Given the description of an element on the screen output the (x, y) to click on. 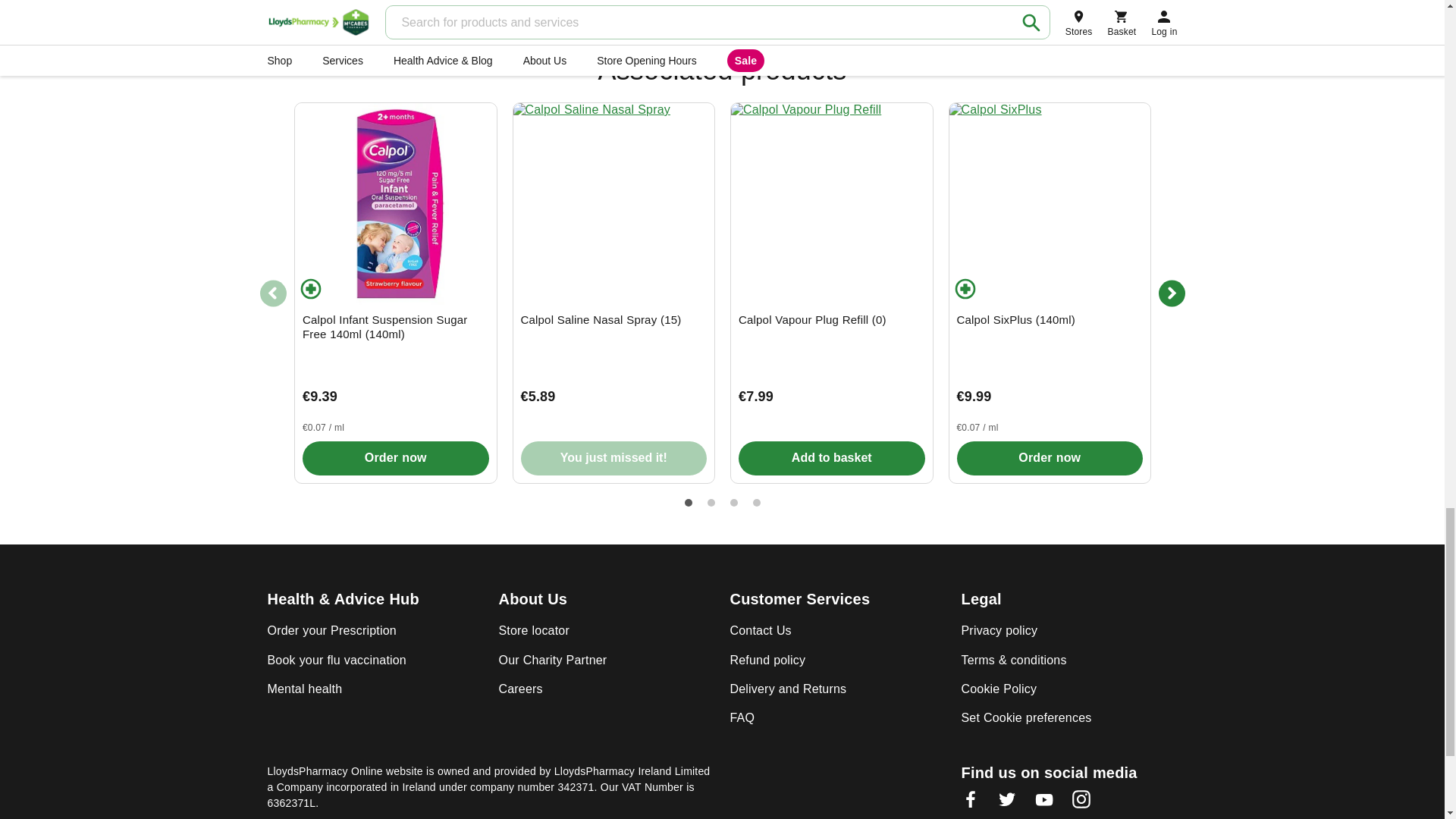
LloydsPharmacy on X (1006, 803)
LloydsPharmacy on YouTube (1043, 803)
LloydsPharmacy on Facebook (969, 803)
LloydsPharmacy on Instagram (1080, 803)
